Given the description of an element on the screen output the (x, y) to click on. 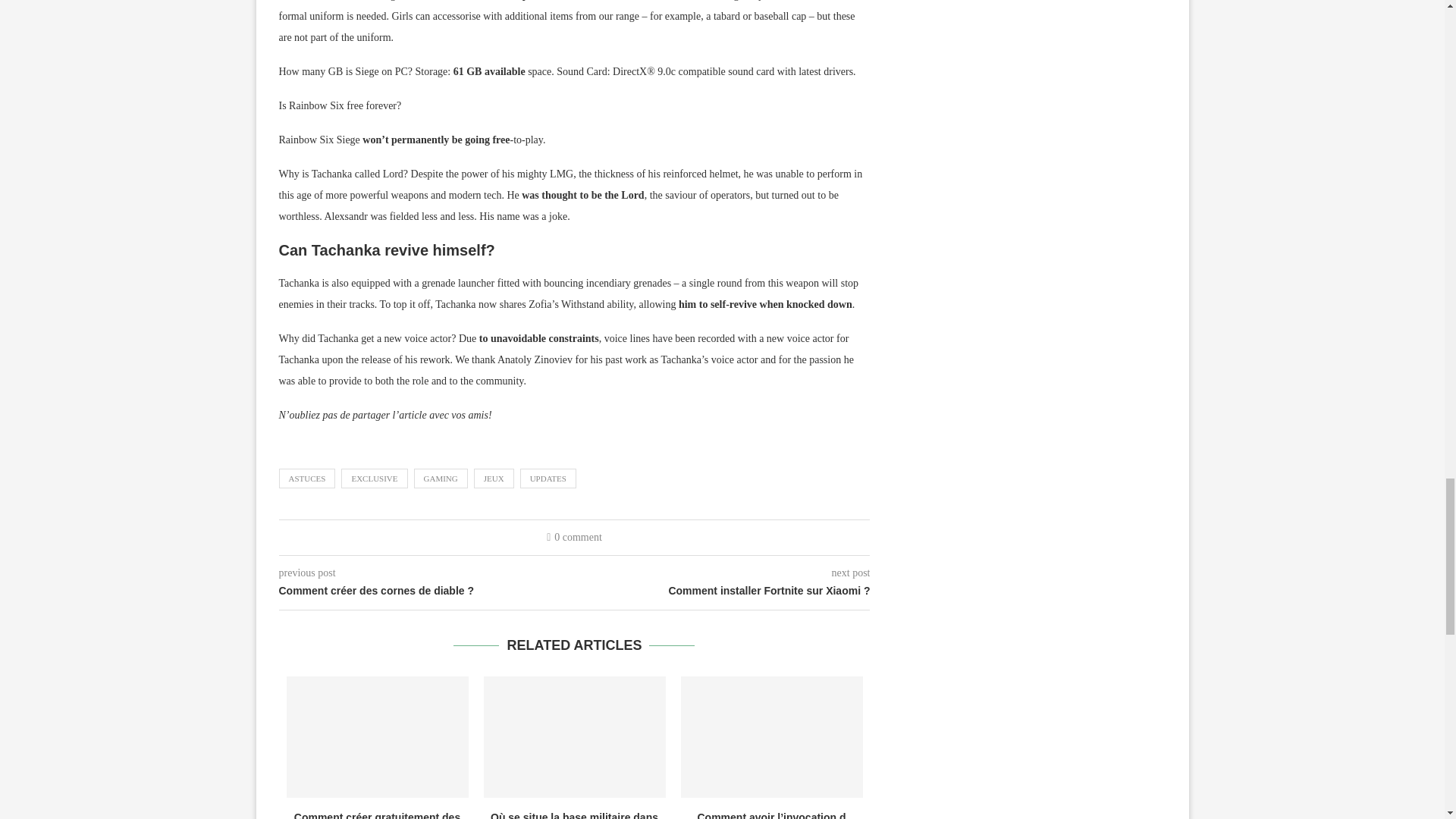
ASTUCES (307, 478)
EXCLUSIVE (373, 478)
GAMING (440, 478)
UPDATES (547, 478)
Comment installer Fortnite sur Xiaomi ? (722, 590)
JEUX (493, 478)
